Given the description of an element on the screen output the (x, y) to click on. 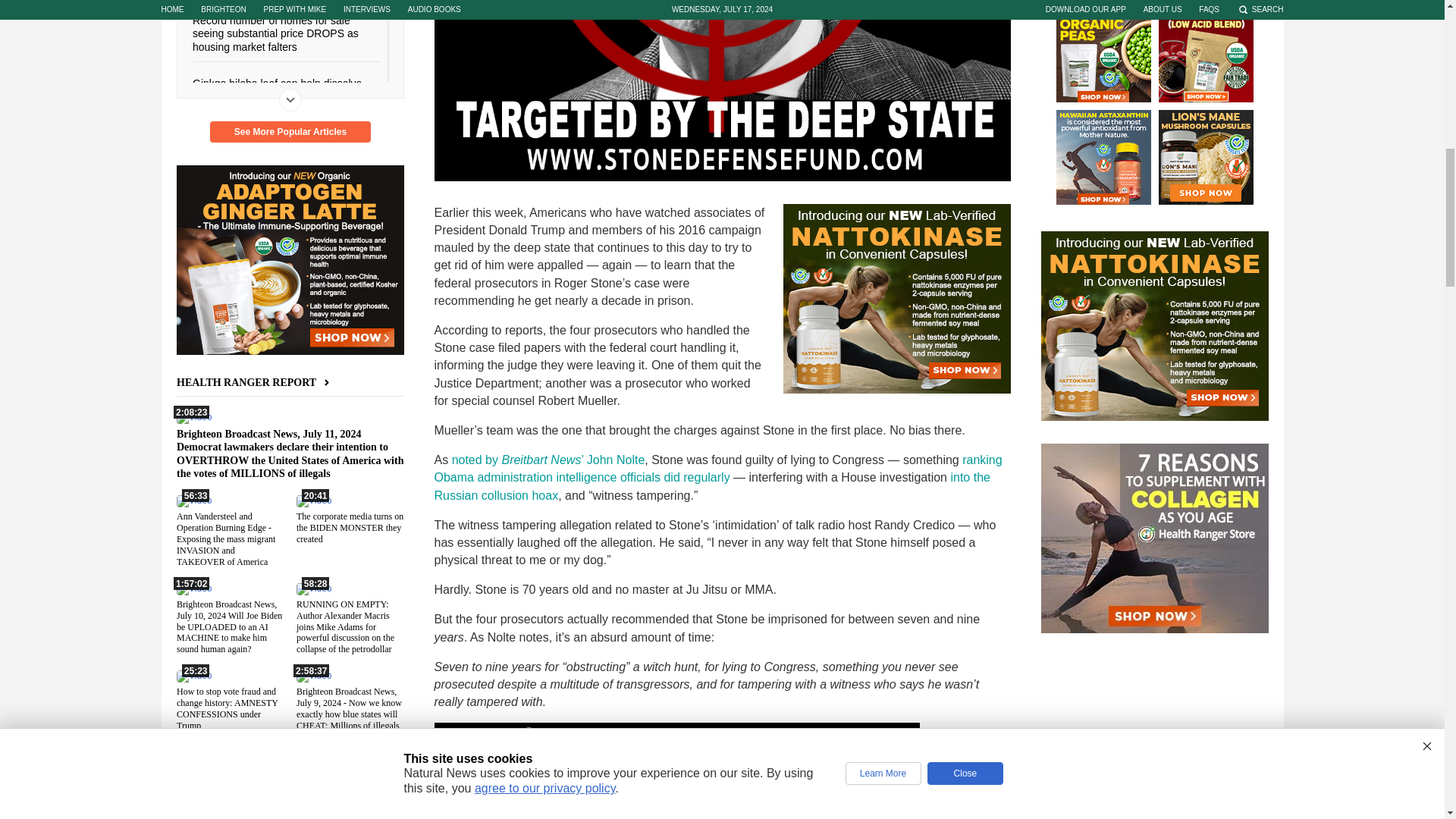
Scroll Down (290, 99)
